Given the description of an element on the screen output the (x, y) to click on. 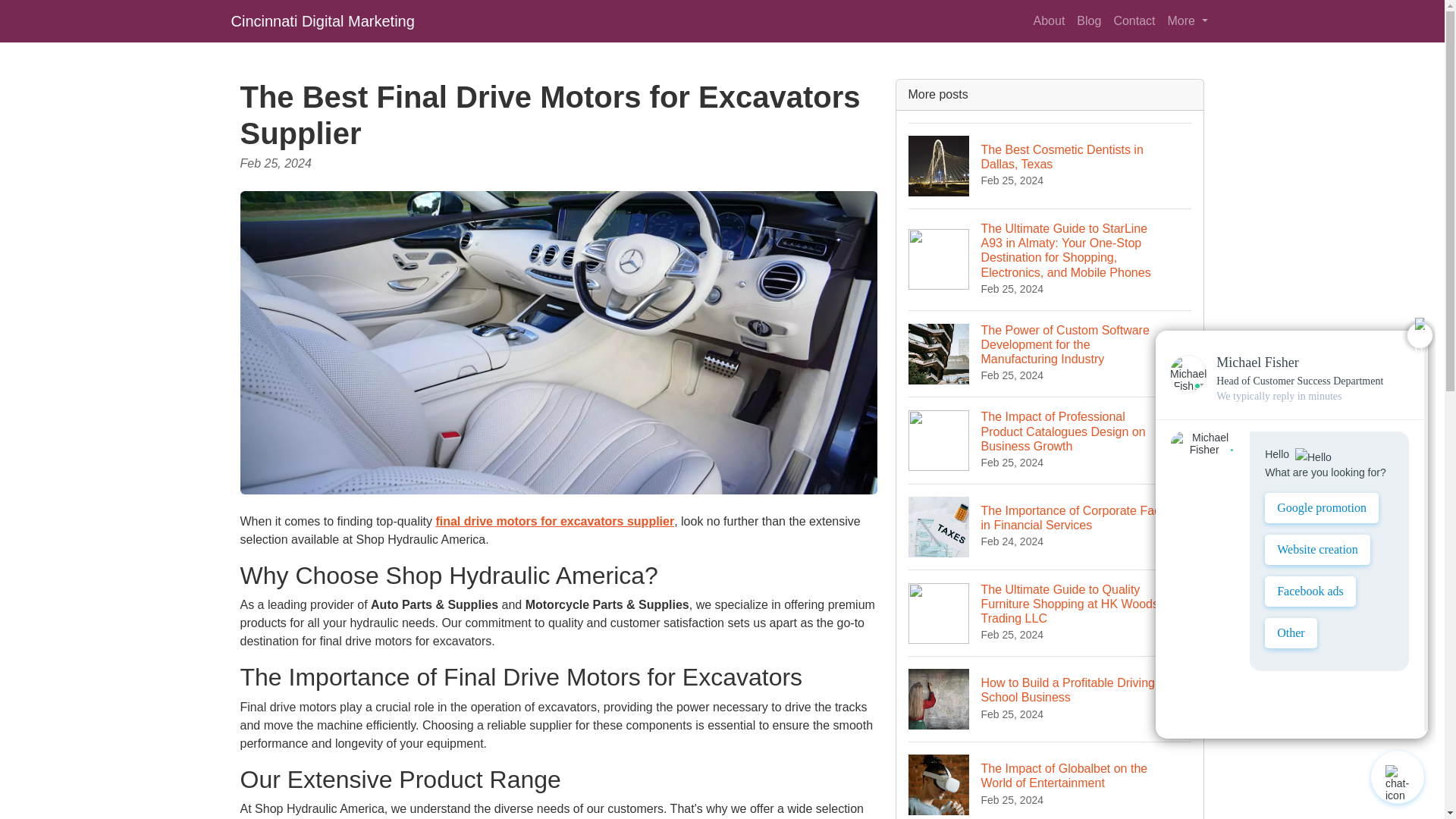
Blog (1088, 20)
final drive motors for excavators supplier (554, 521)
About (1049, 20)
More (1187, 20)
Cincinnati Digital Marketing (321, 20)
